Given the description of an element on the screen output the (x, y) to click on. 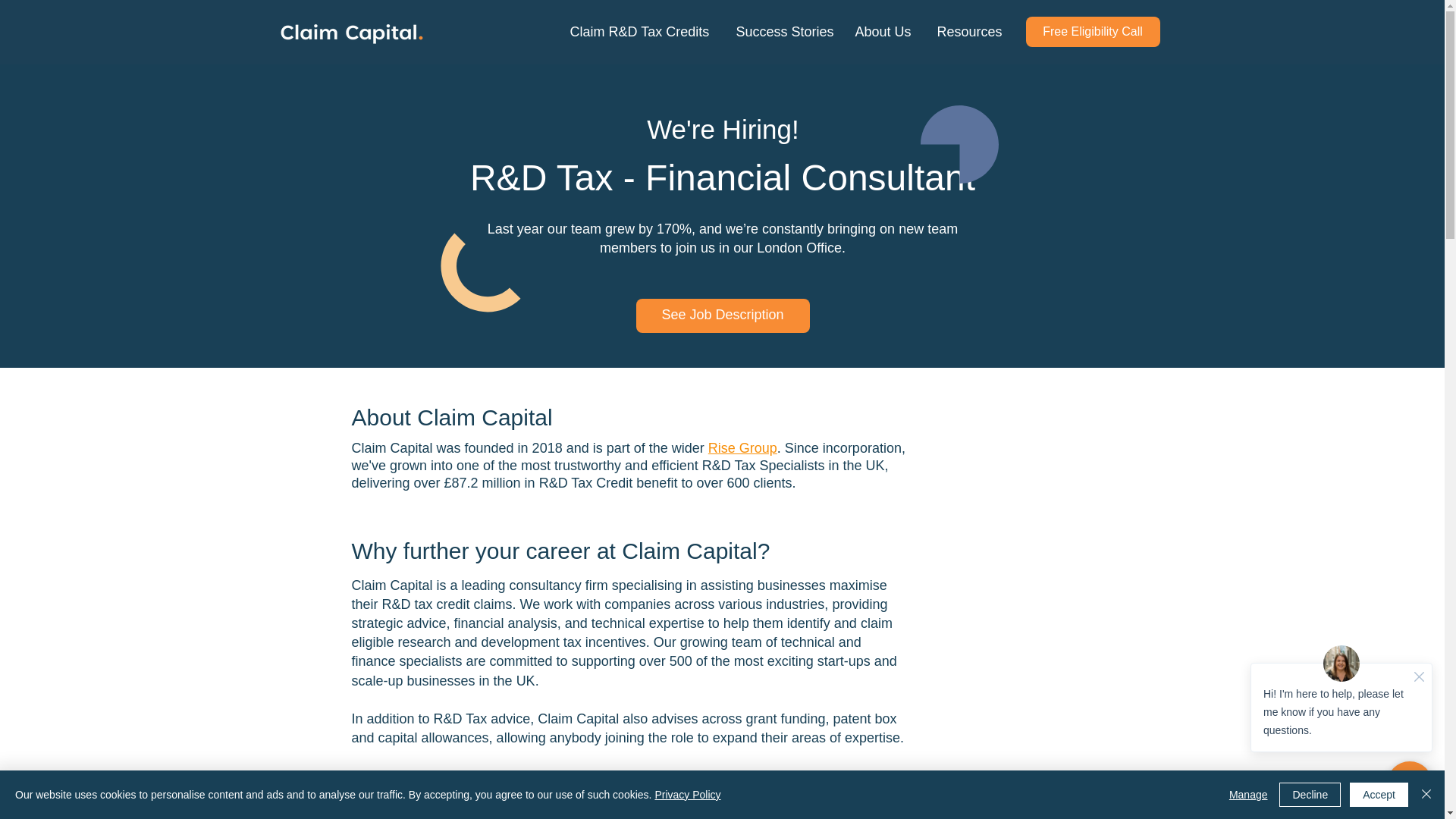
Free Eligibility Call (1091, 31)
Accept (1378, 794)
See Job Description (721, 315)
Rise Group (742, 447)
Success Stories (784, 31)
Claim Capital White Logo 2022.png (355, 31)
Privacy Policy (686, 794)
About Us (883, 31)
Decline (1309, 794)
